Given the description of an element on the screen output the (x, y) to click on. 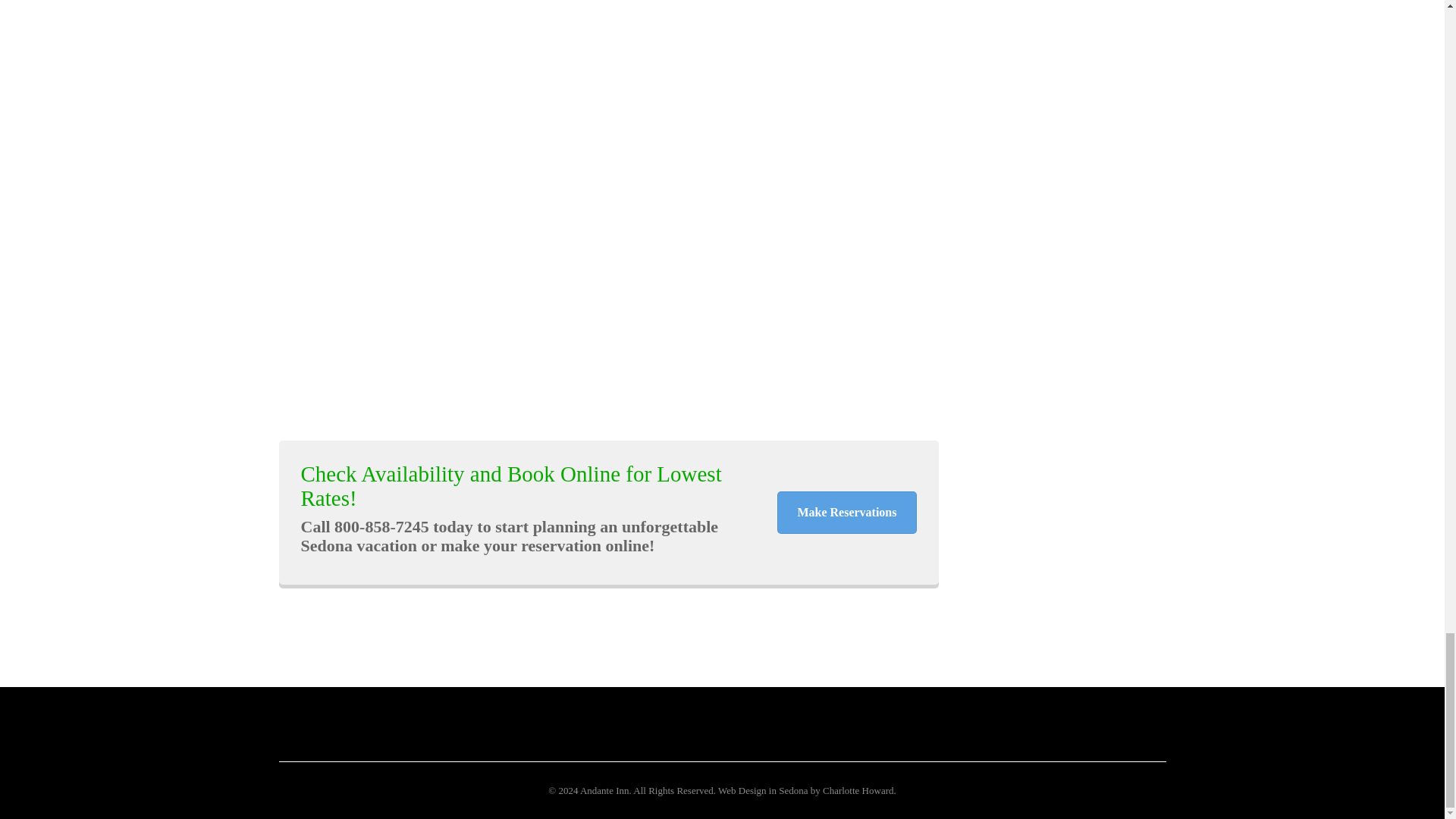
Make Reservations (846, 512)
Andante Inn (603, 790)
Web Design in Sedona by Charlotte Howard (805, 790)
